Given the description of an element on the screen output the (x, y) to click on. 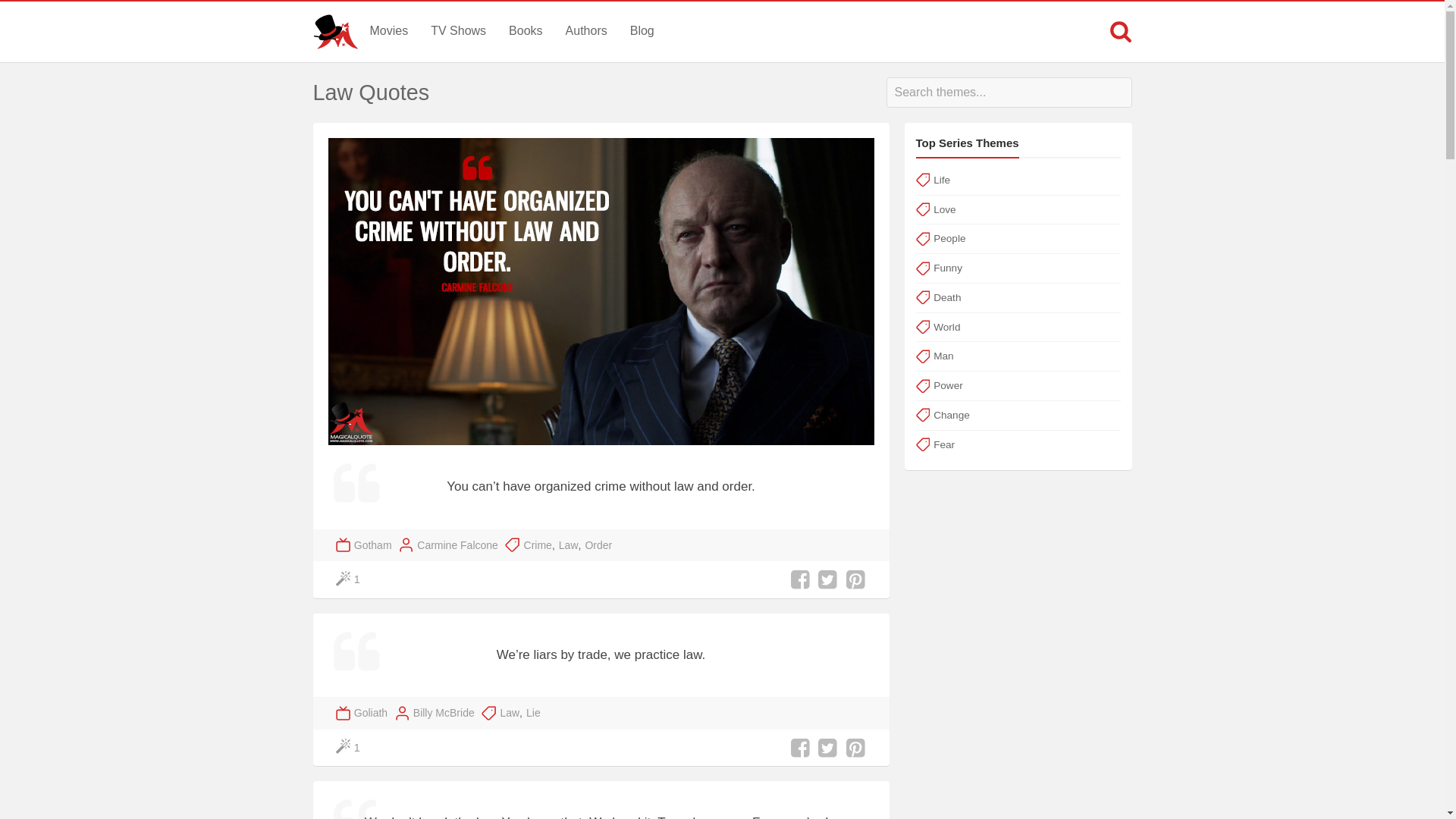
Crime (537, 545)
Do Some Magic! (348, 748)
Billy McBride (443, 712)
Books (525, 30)
Gotham (372, 545)
Law (509, 712)
Blog (641, 30)
Carmine Falcone (456, 545)
Authors (586, 30)
1 (348, 579)
1 (348, 748)
TV Shows (458, 30)
Lie (532, 712)
MagicalQuote (335, 31)
Do Some Magic! (348, 579)
